Given the description of an element on the screen output the (x, y) to click on. 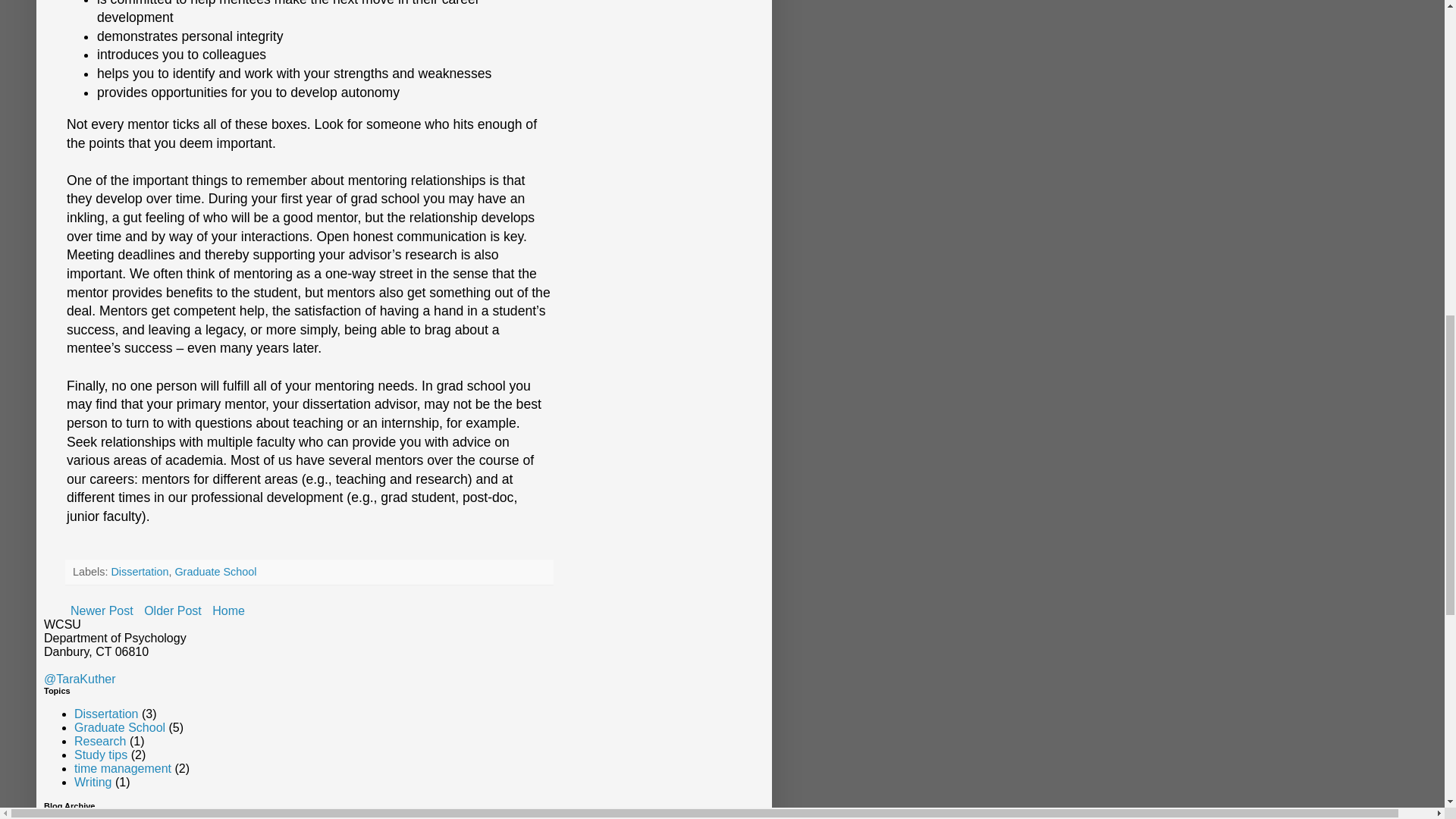
Home (228, 610)
Writing (93, 781)
Dissertation (139, 571)
Graduate School (215, 571)
Graduate School (119, 727)
Older Post (172, 610)
Study tips (101, 754)
Newer Post (101, 610)
Newer Post (101, 610)
Research (99, 740)
